Given the description of an element on the screen output the (x, y) to click on. 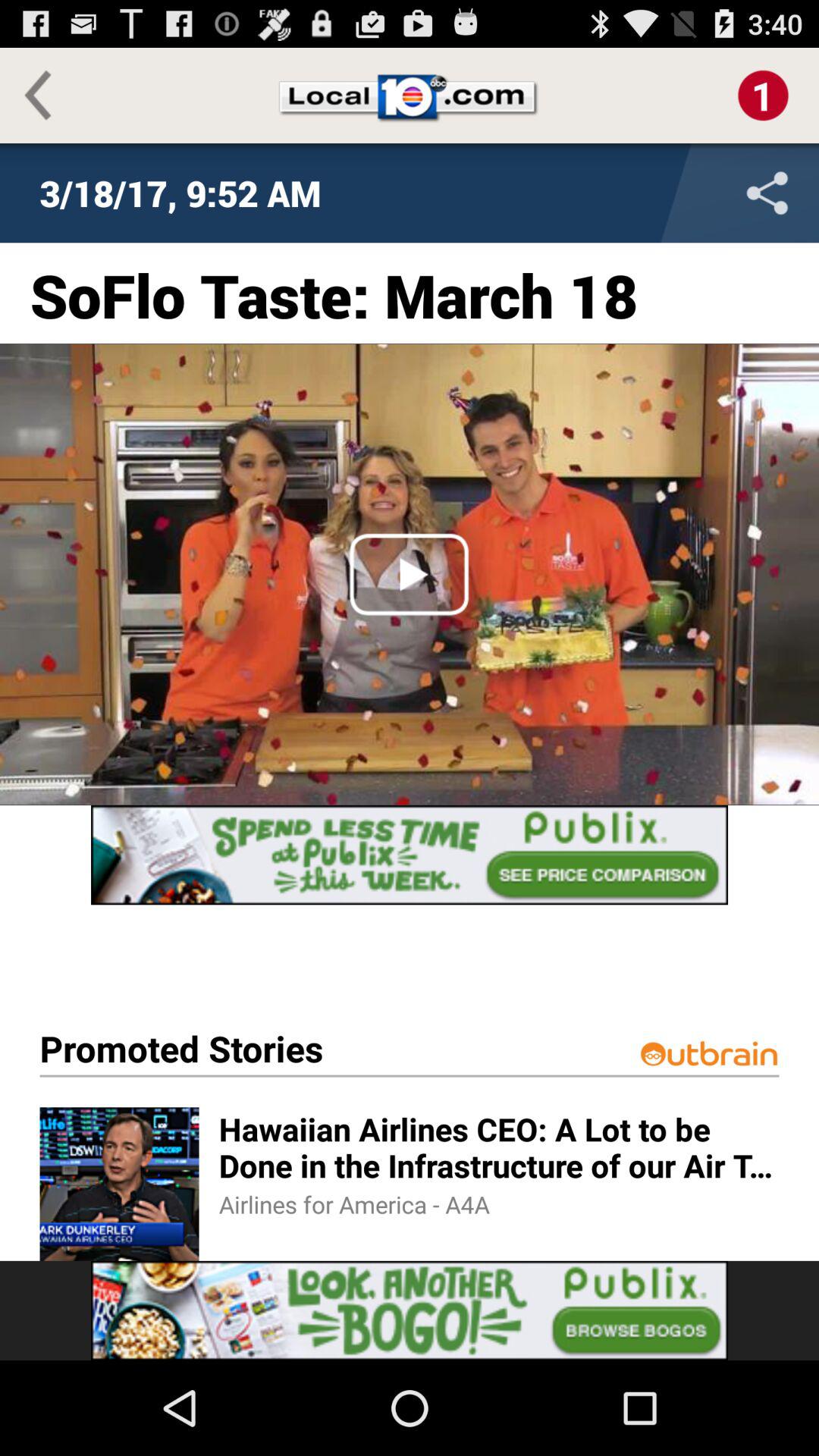
screen page (409, 854)
